Given the description of an element on the screen output the (x, y) to click on. 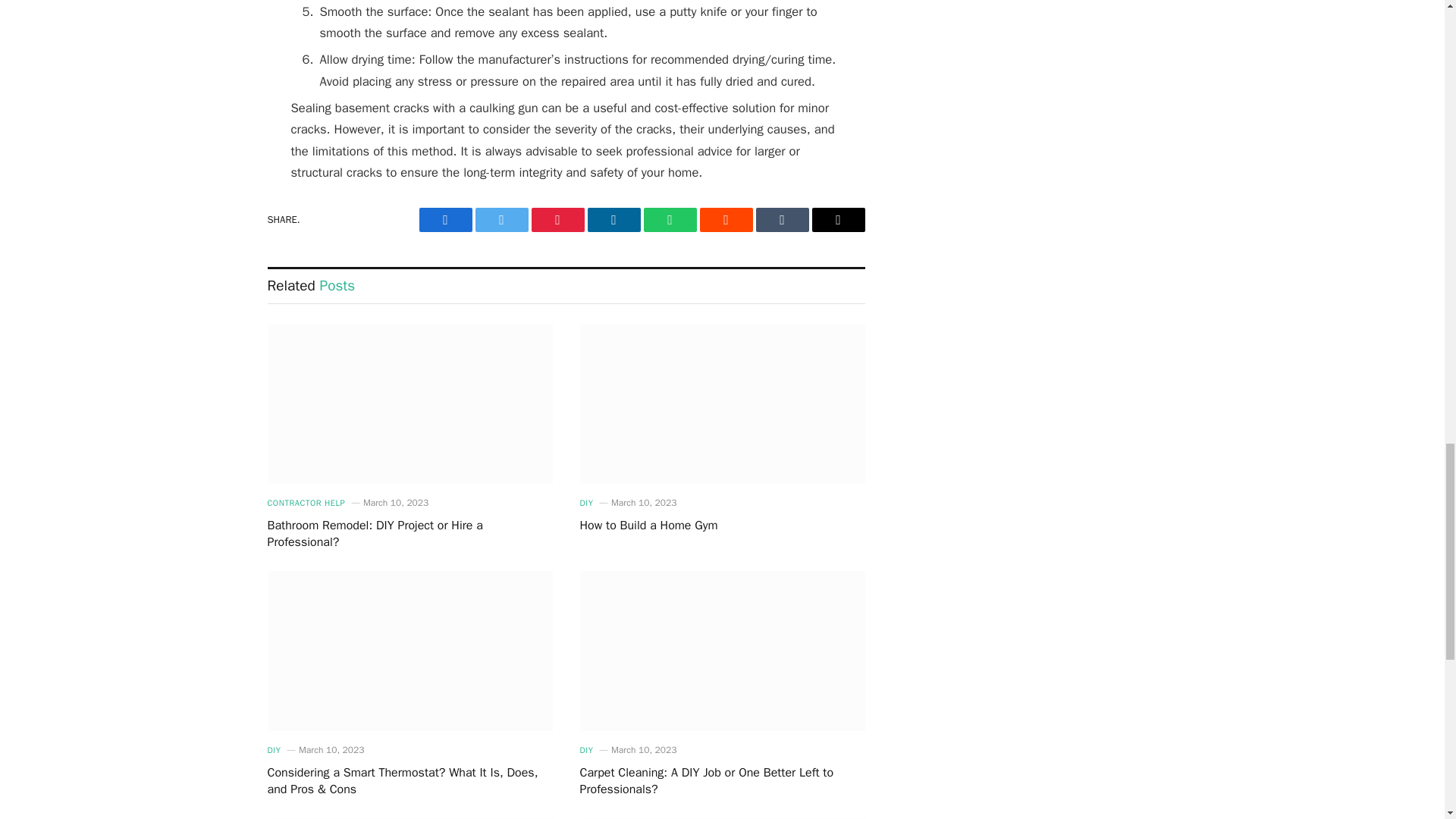
WhatsApp (669, 219)
Pinterest (557, 219)
Twitter (500, 219)
Facebook (445, 219)
Reddit (725, 219)
LinkedIn (613, 219)
Tumblr (781, 219)
